Given the description of an element on the screen output the (x, y) to click on. 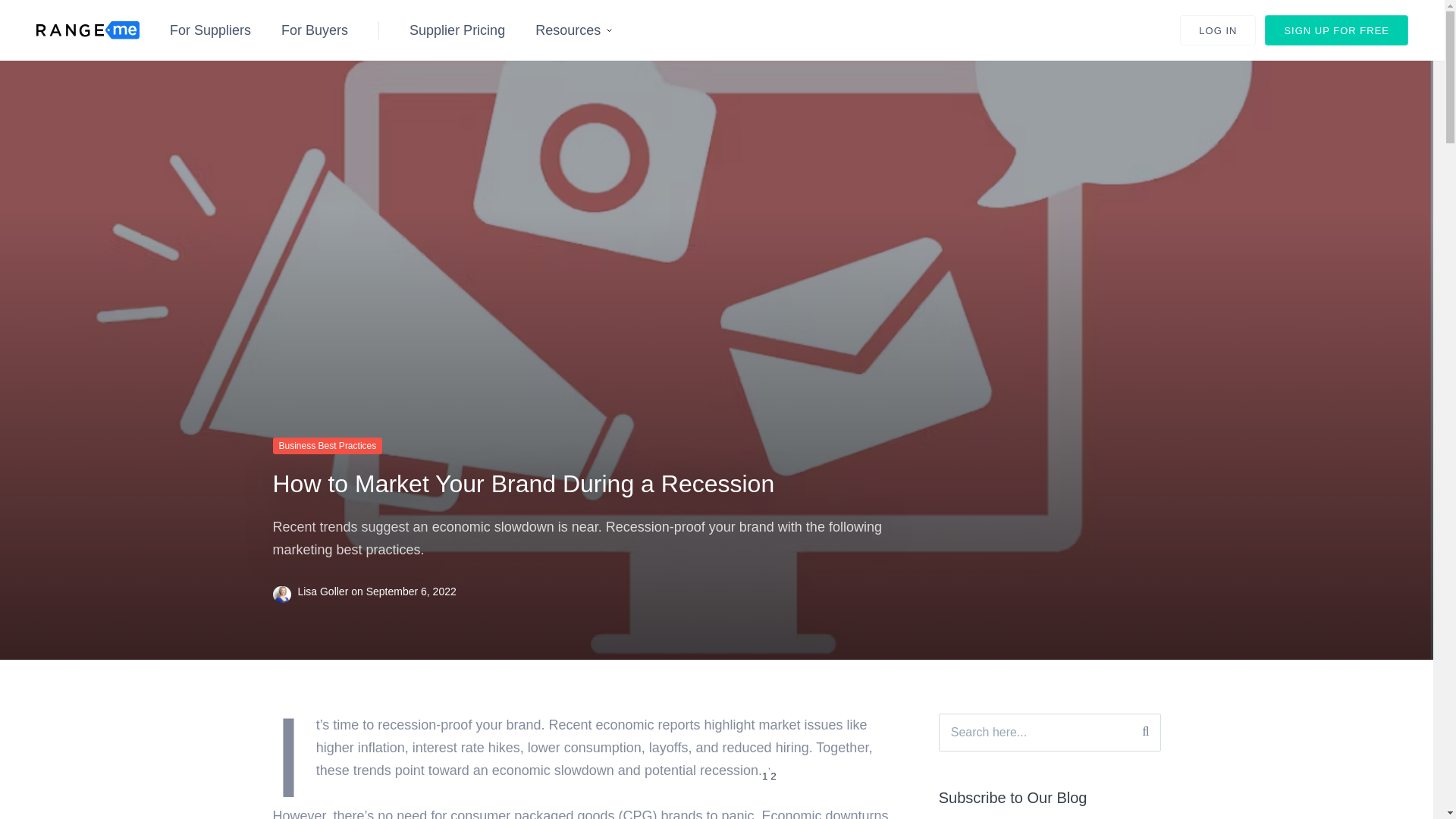
Lisa Goller (323, 591)
For Suppliers (210, 29)
For Buyers (314, 29)
Supplier Pricing (457, 29)
SIGN UP FOR FREE (1336, 30)
Posts by   (285, 591)
LOG IN (1217, 30)
Business Best Practices (327, 445)
